Given the description of an element on the screen output the (x, y) to click on. 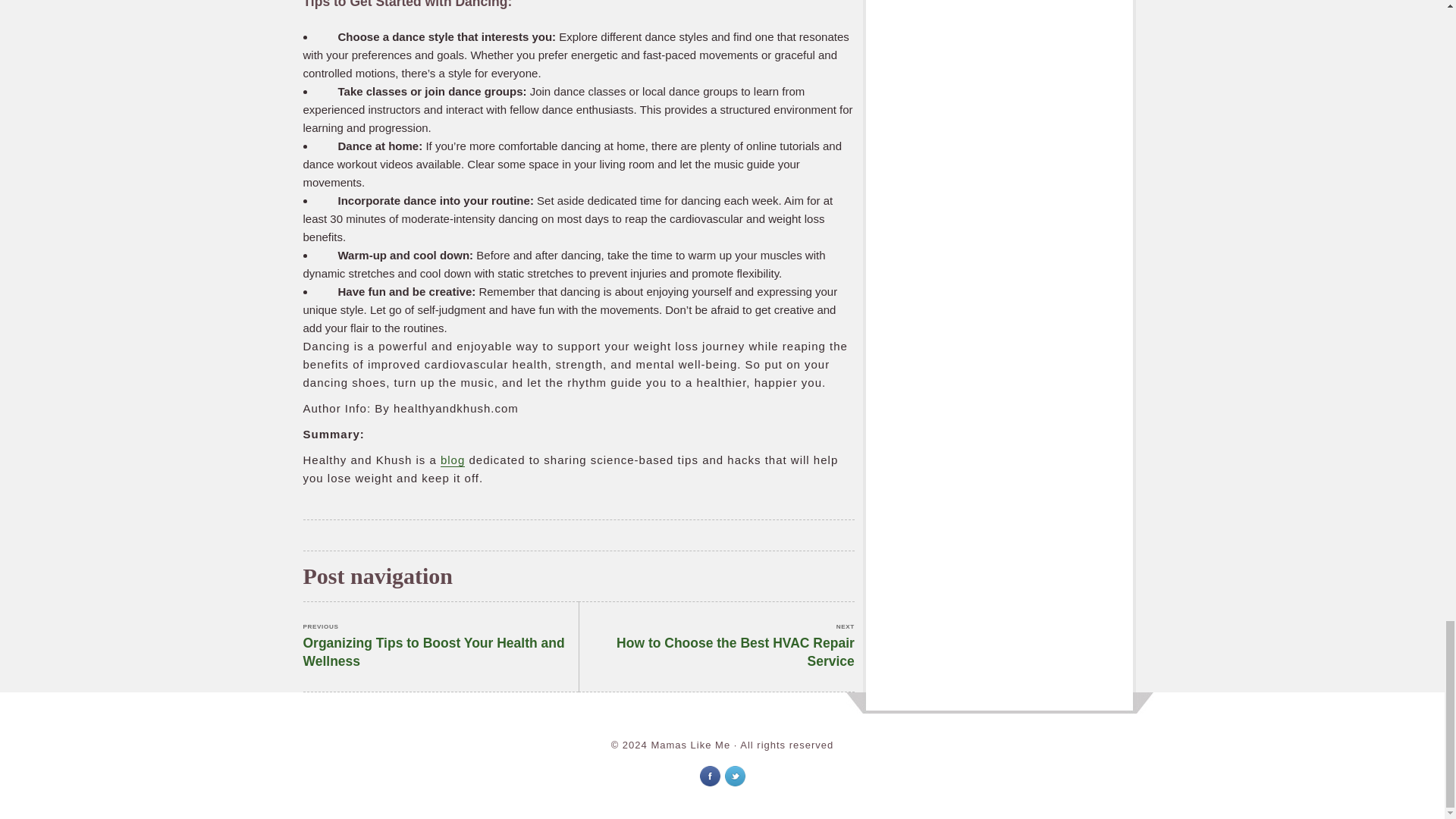
Facebook (709, 775)
Twitter (735, 775)
blog (452, 459)
Facebook (708, 775)
Twitter (716, 646)
